Given the description of an element on the screen output the (x, y) to click on. 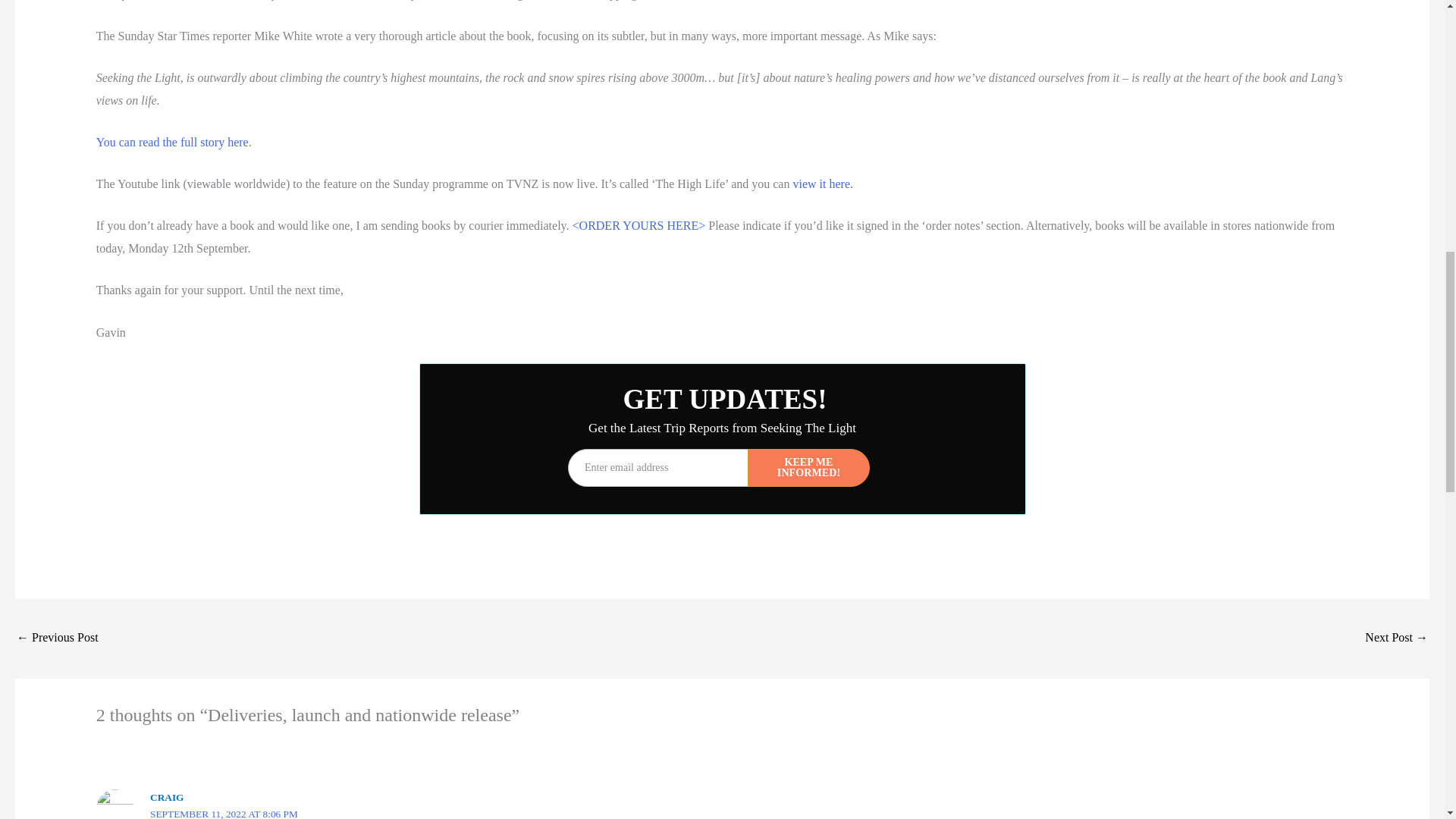
Books despatching imminently (57, 638)
SEPTEMBER 11, 2022 AT 8:06 PM (223, 813)
view it here. (822, 183)
KEEP ME INFORMED! (808, 467)
You can read the full story here (172, 141)
